Given the description of an element on the screen output the (x, y) to click on. 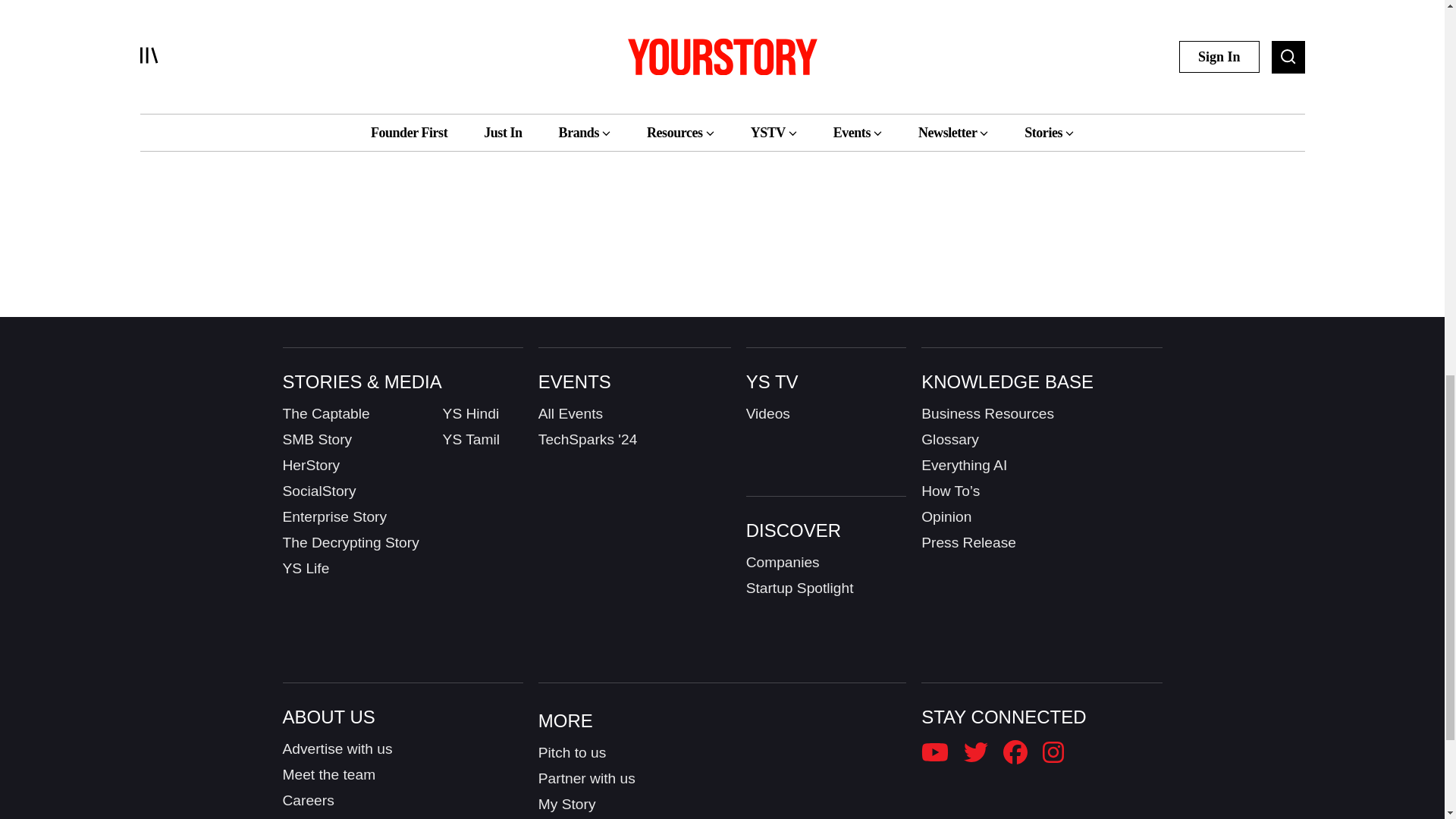
Startup Spotlight (799, 588)
OPINION (647, 51)
Enterprise Story (334, 516)
Everything AI (964, 465)
SocialStory (318, 491)
The Decrypting Story (350, 542)
Companies (782, 562)
YS Tamil (470, 439)
HerStory (310, 465)
YS Life (305, 568)
Videos (767, 413)
OPINION (410, 51)
TechSparks '24 (587, 439)
The Big Shift is Here, is your Business ready? (483, 12)
SMB Story (317, 439)
